Given the description of an element on the screen output the (x, y) to click on. 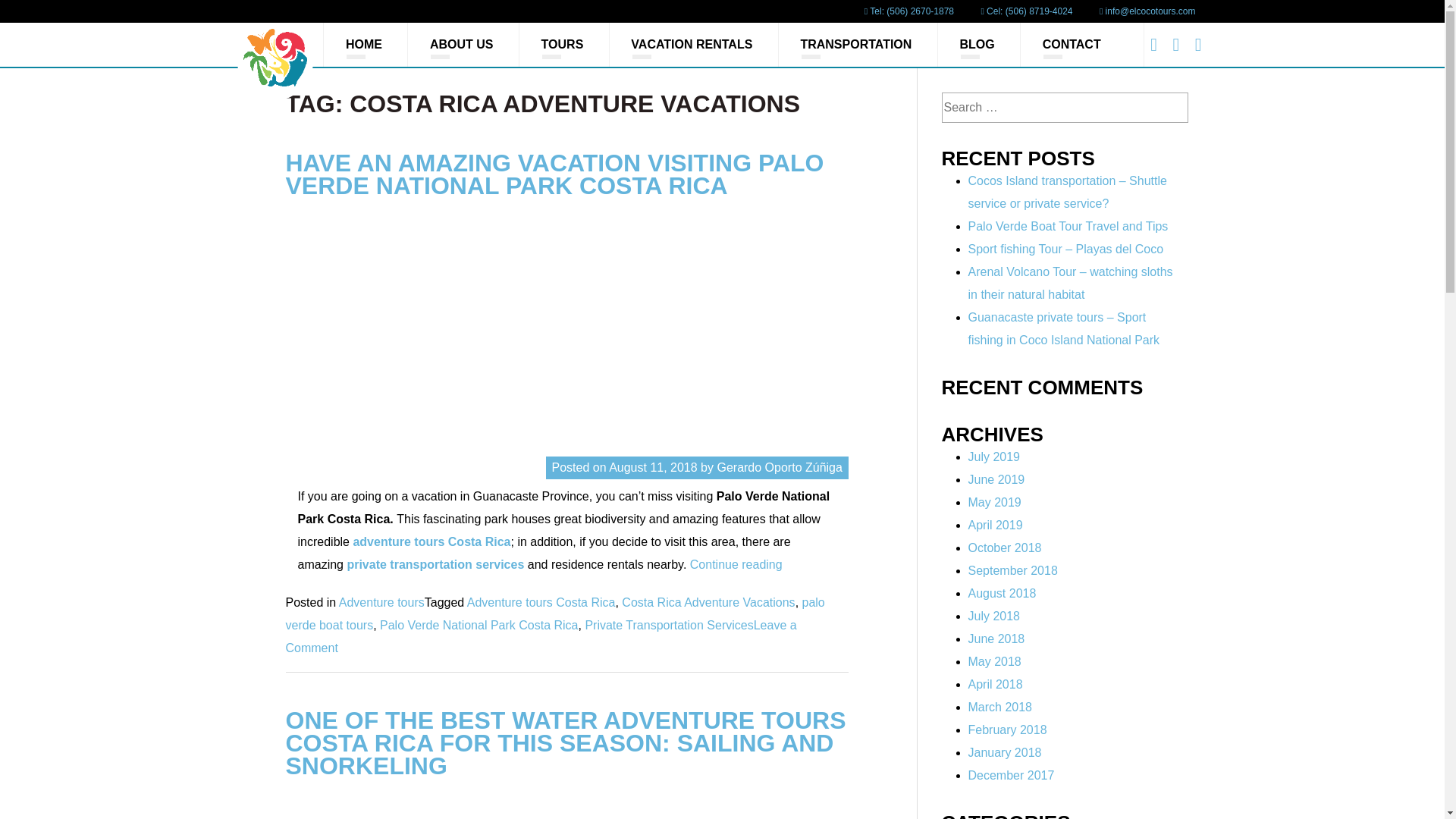
Private Transportation Services (668, 625)
VACATION RENTALS (692, 44)
HOME (363, 44)
Adventure tours Costa Rica (541, 602)
private transportation services (435, 563)
adventure tours Costa Rica (431, 541)
TOURS (562, 44)
TRANSPORTATION (856, 44)
